Given the description of an element on the screen output the (x, y) to click on. 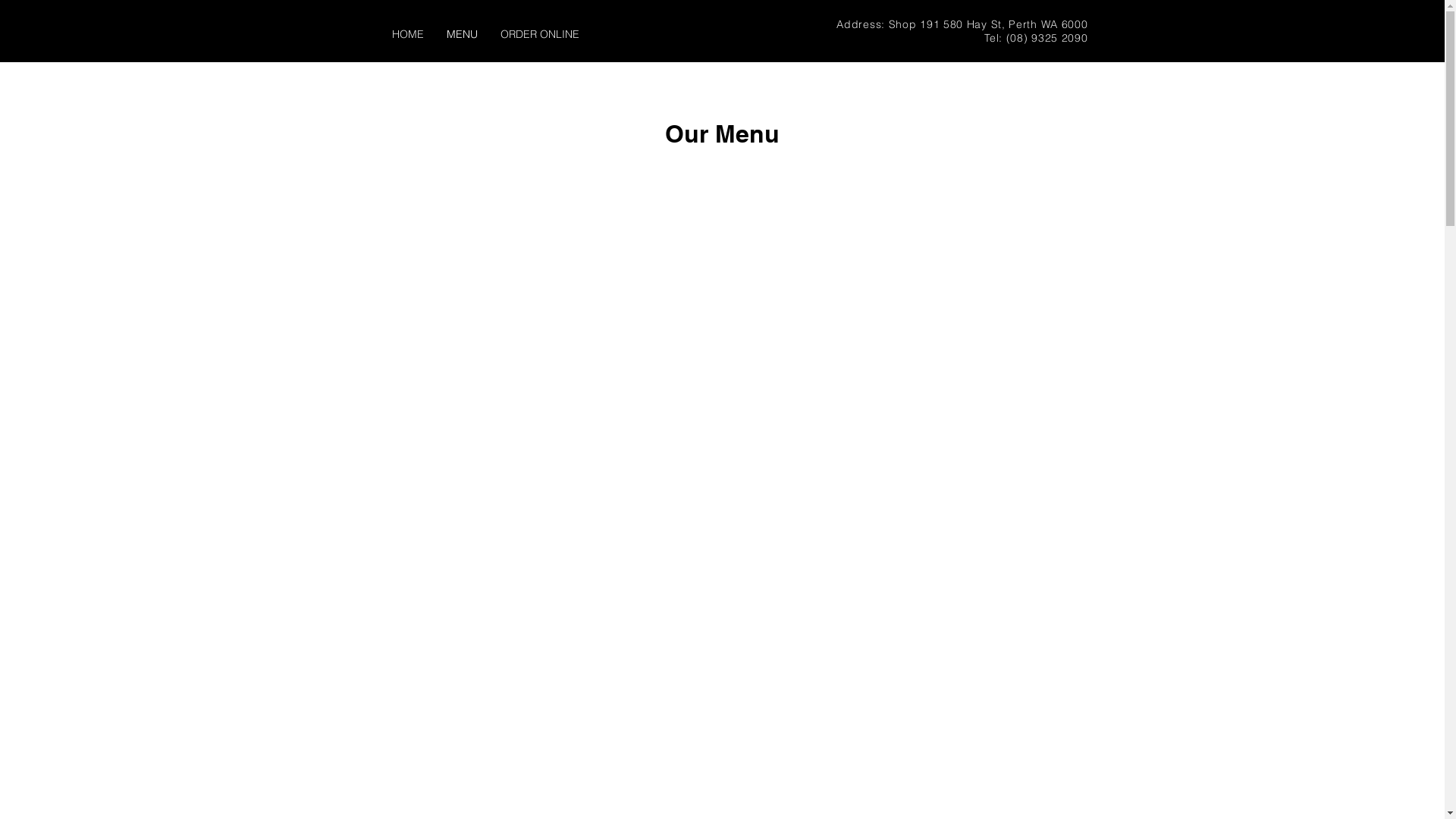
ORDER ONLINE Element type: text (538, 34)
MENU Element type: text (462, 34)
HOME Element type: text (407, 34)
